Given the description of an element on the screen output the (x, y) to click on. 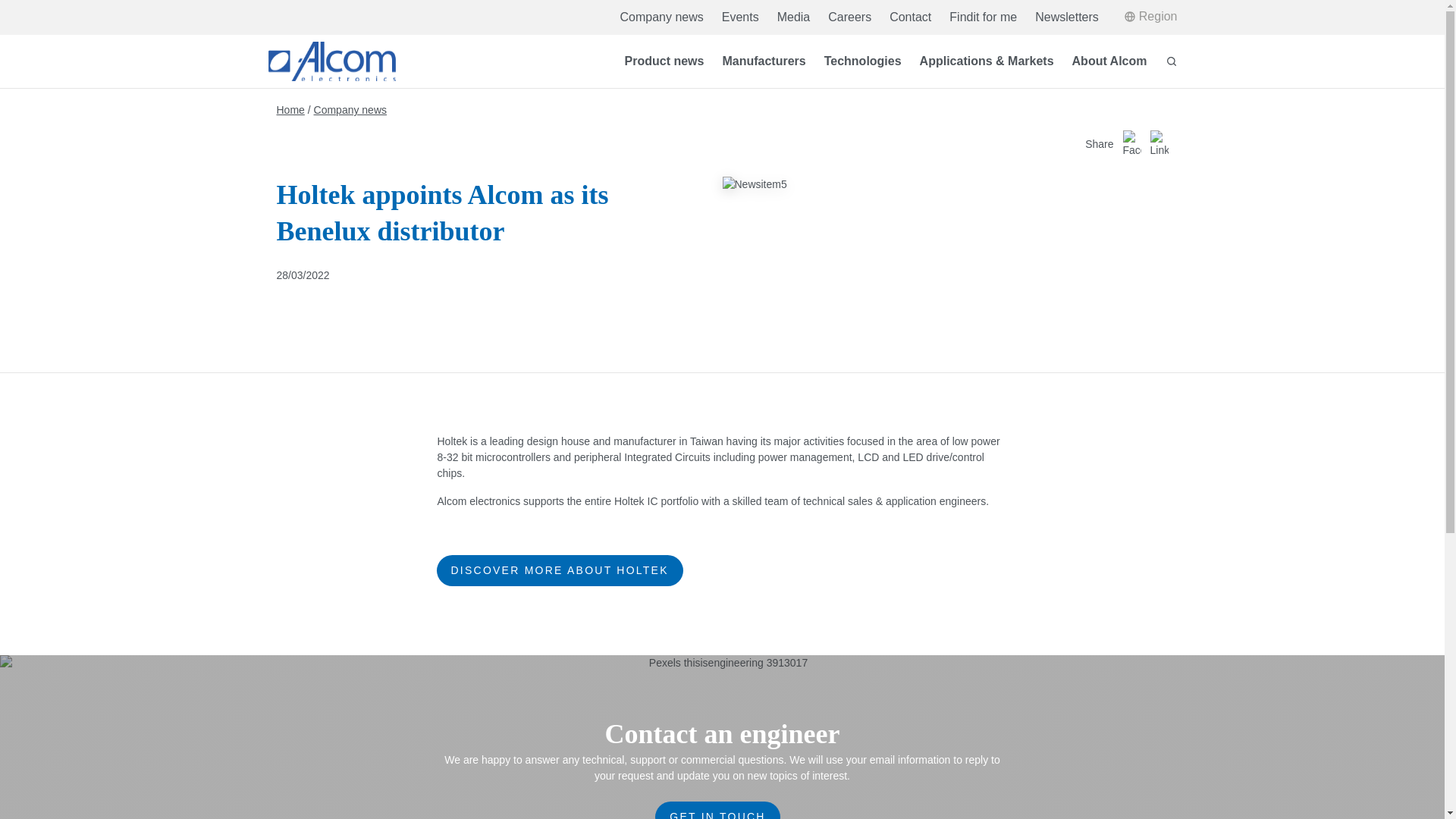
Company news (350, 109)
Newsletters (1067, 16)
Careers (849, 16)
Findit for me (982, 16)
Contact (910, 16)
Technologies (862, 62)
Company news (661, 16)
About Alcom (1109, 62)
Product news (664, 62)
DISCOVER MORE ABOUT HOLTEK (558, 570)
Manufacturers (763, 62)
Region (1150, 16)
GET IN TOUCH (717, 810)
Home (290, 109)
Events (740, 16)
